Given the description of an element on the screen output the (x, y) to click on. 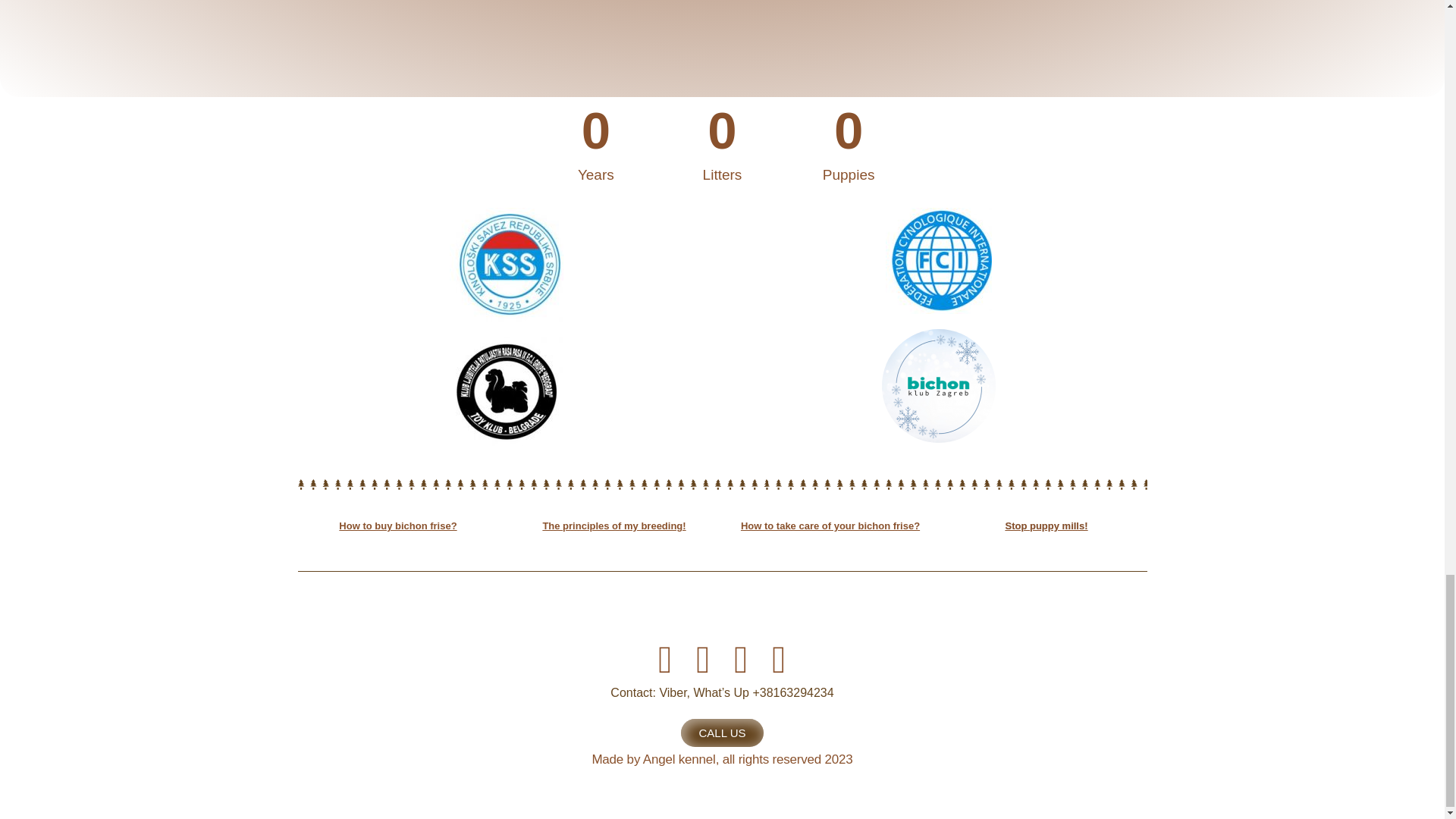
How to take care of your bichon frise? (830, 525)
kss (505, 264)
fci (938, 260)
How to buy bichon frise? (398, 525)
Stop puppy mills! (1045, 525)
CALL US (722, 732)
The principles of my breeding! (613, 525)
